Given the description of an element on the screen output the (x, y) to click on. 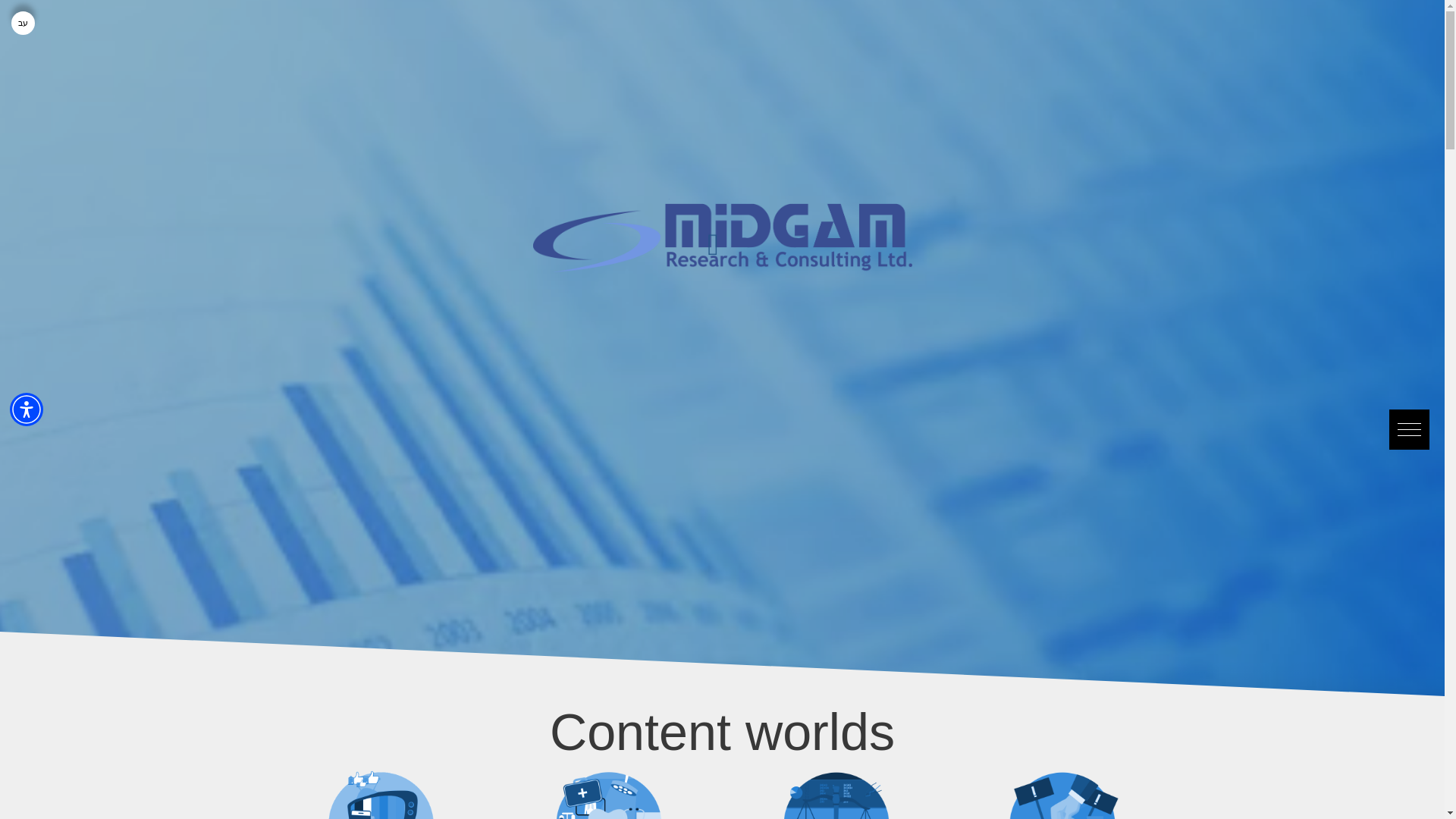
Search (43, 21)
Accessibility Menu (26, 409)
